Given the description of an element on the screen output the (x, y) to click on. 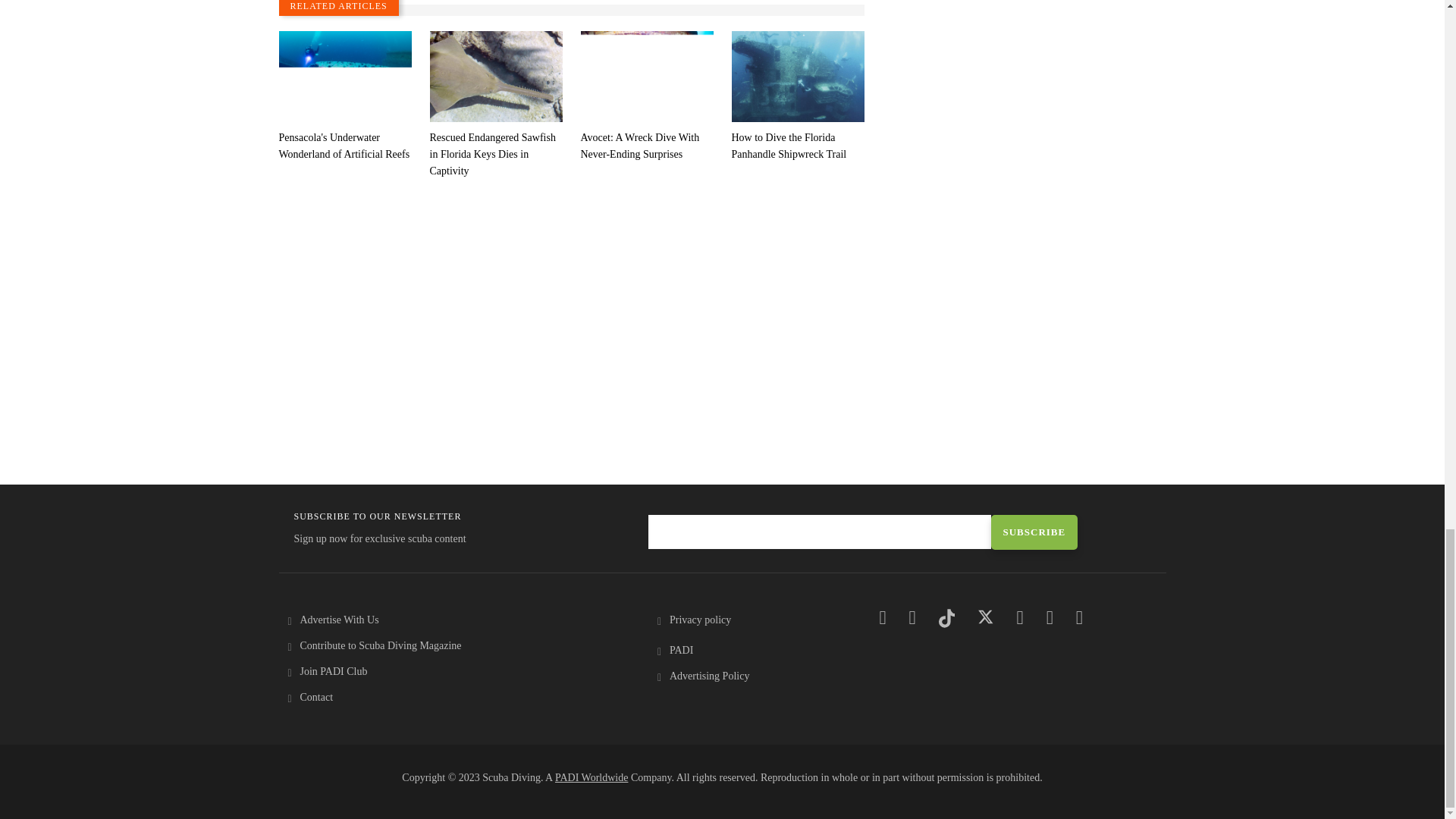
Pensacola's Underwater Wonderland of Artificial Reefs (345, 145)
Rescued Endangered Sawfish in Florida Keys Dies in Captivity (495, 154)
Subscribe (1033, 532)
3rd party ad content (1023, 68)
Avocet: A Wreck Dive With Never-Ending Surprises (646, 145)
How to Dive the Florida Panhandle Shipwreck Trail (796, 145)
